Given the description of an element on the screen output the (x, y) to click on. 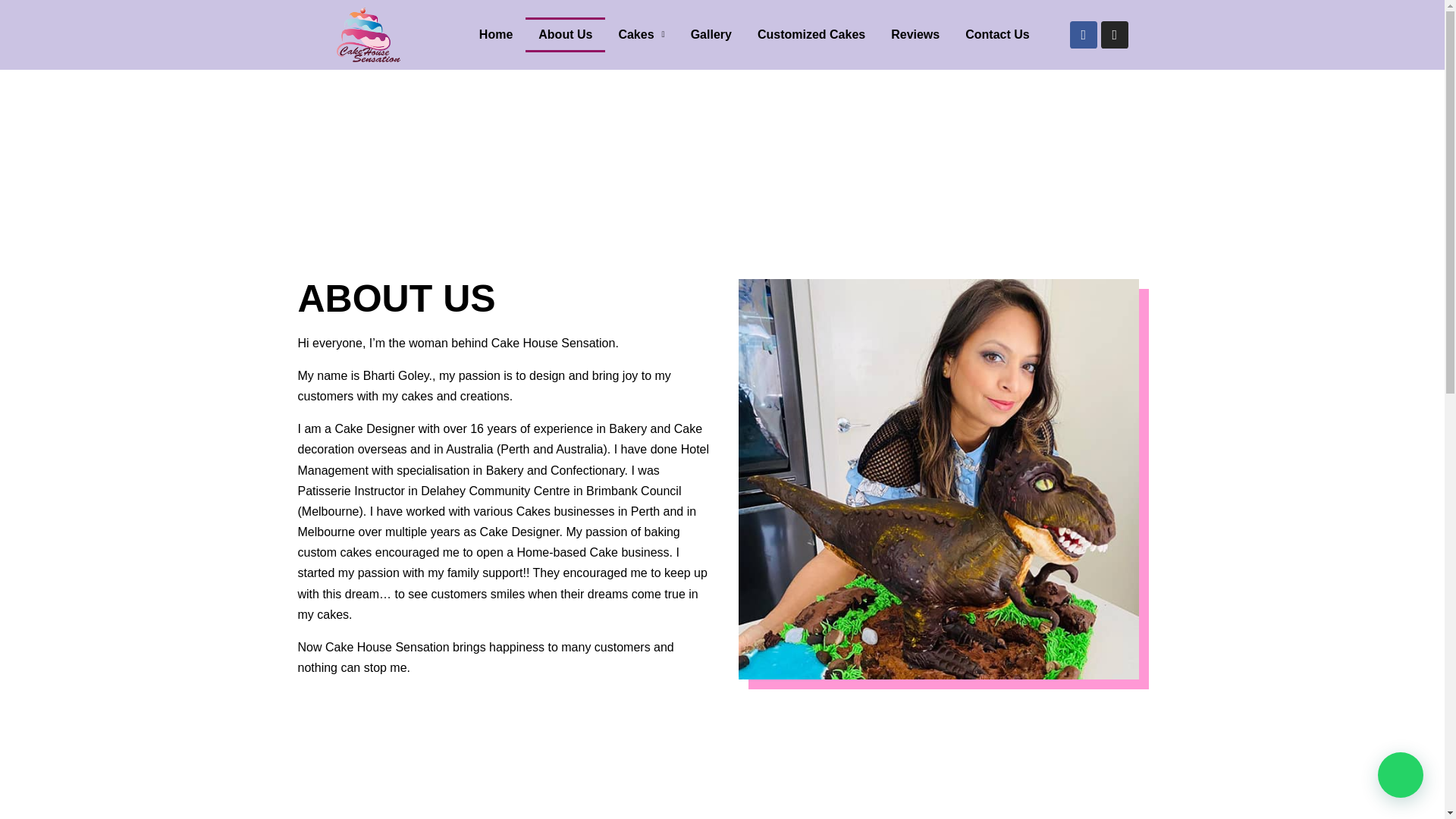
About Us (565, 34)
Gallery (711, 34)
Reviews (914, 34)
Home (495, 34)
Customized Cakes (810, 34)
Contact Us (997, 34)
Cakes (641, 34)
